Given the description of an element on the screen output the (x, y) to click on. 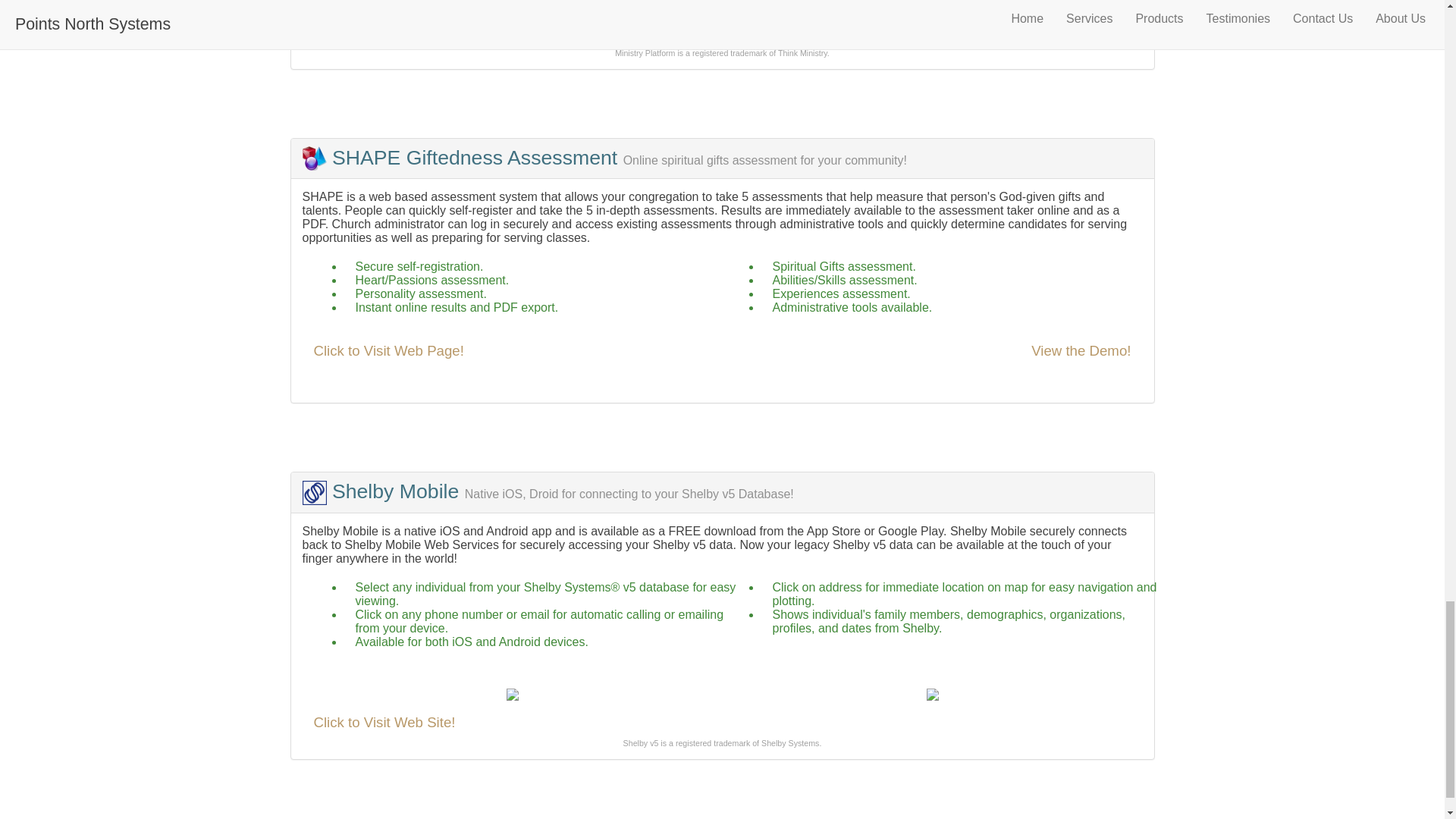
Click to View Screenshots! (397, 5)
Click to for User Guide! (387, 32)
Click to Visit Web Page! (389, 350)
Click to Visit Web Site! (384, 722)
View the Demo! (1080, 350)
